Given the description of an element on the screen output the (x, y) to click on. 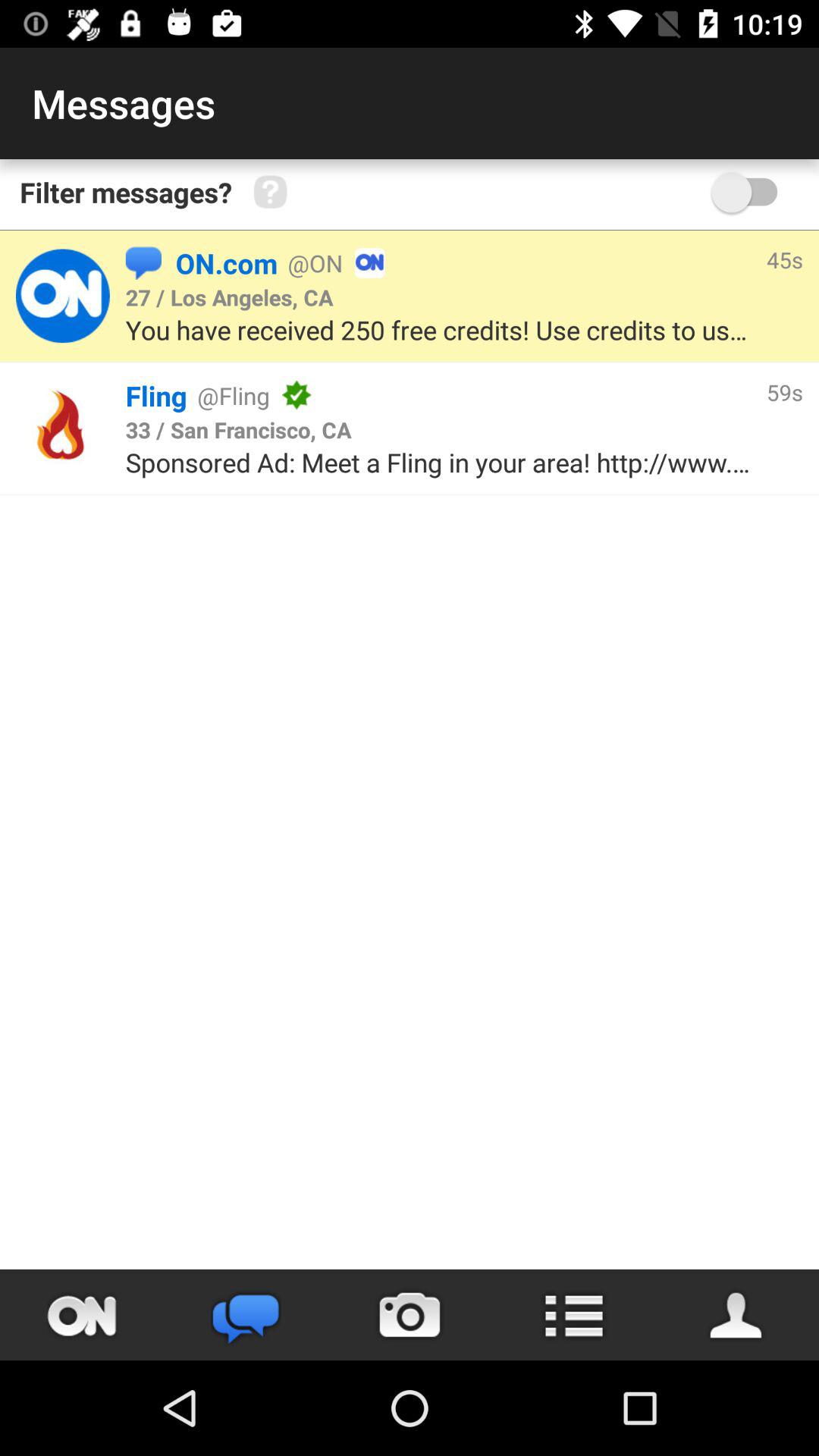
launch the sponsored ad meet item (437, 462)
